Given the description of an element on the screen output the (x, y) to click on. 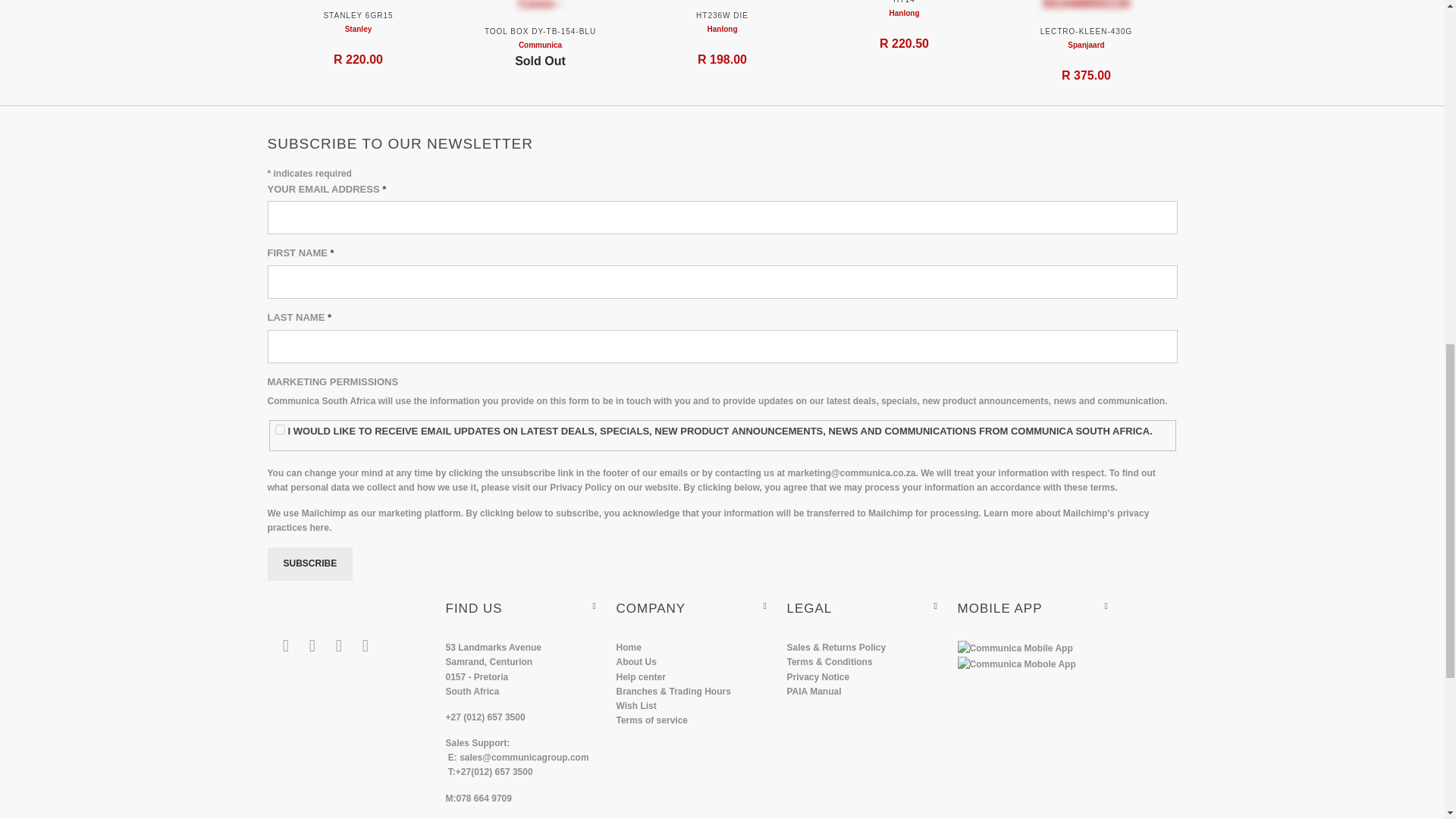
Communica South Africa on Facebook (312, 646)
Y (280, 429)
Subscribe (309, 563)
Communica South Africa on Twitter (286, 646)
